Given the description of an element on the screen output the (x, y) to click on. 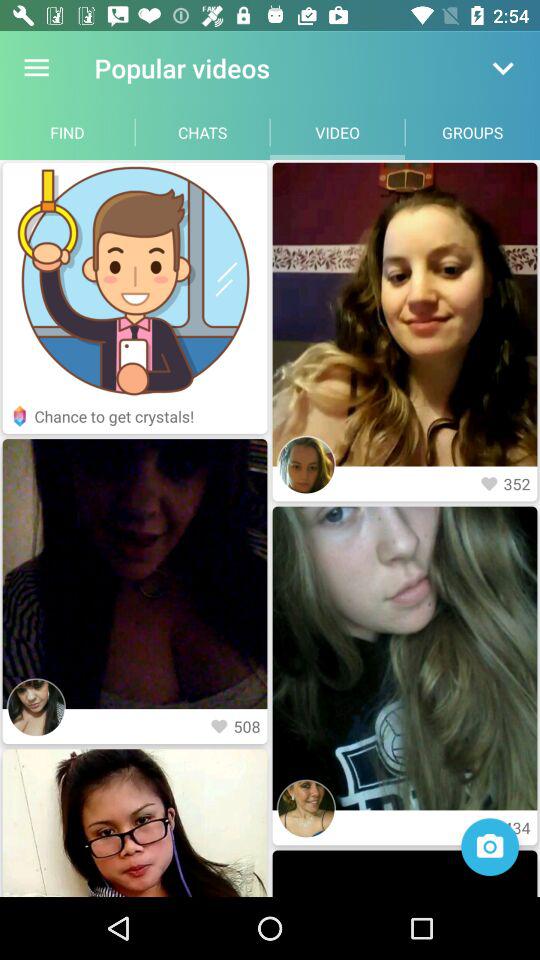
press icon next to find icon (202, 132)
